Given the description of an element on the screen output the (x, y) to click on. 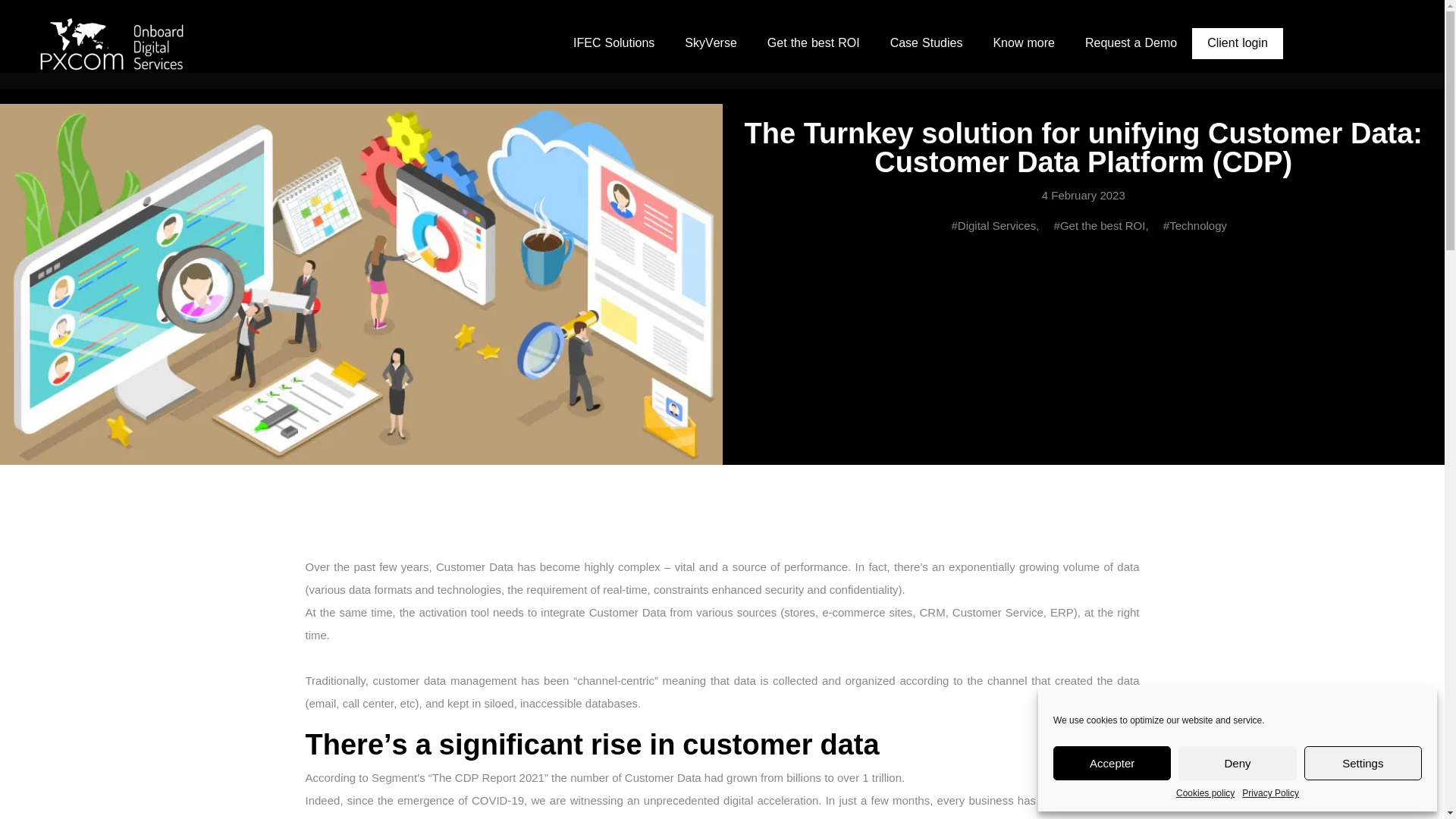
Request a Demo (1131, 42)
Privacy Policy (1269, 793)
IFEC Solutions (613, 42)
Settings (1363, 763)
Client login (1237, 42)
Know more (1023, 42)
Cookies policy (1205, 793)
Accepter (1111, 763)
SkyVerse (710, 42)
Deny (1236, 763)
Get the best ROI (813, 42)
Case Studies (926, 42)
